Given the description of an element on the screen output the (x, y) to click on. 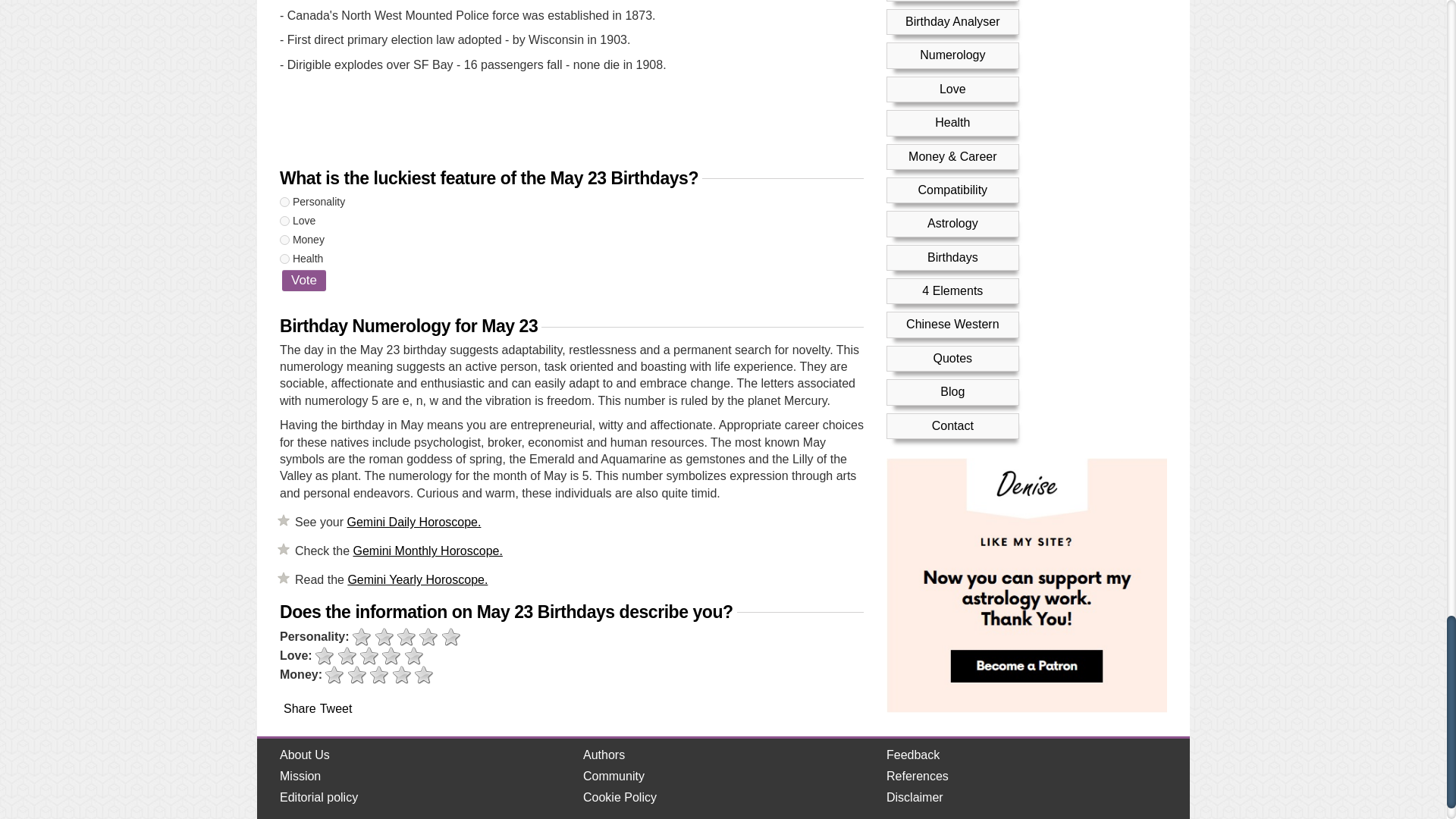
Average (406, 637)
Gemini Horoscope 2025: Key Yearly Predictions (417, 579)
Average (368, 656)
Somewhat (346, 656)
q4 (284, 258)
Somewhat (383, 637)
Good (428, 637)
q2 (284, 221)
Not at All (324, 656)
Vote (304, 280)
